Given the description of an element on the screen output the (x, y) to click on. 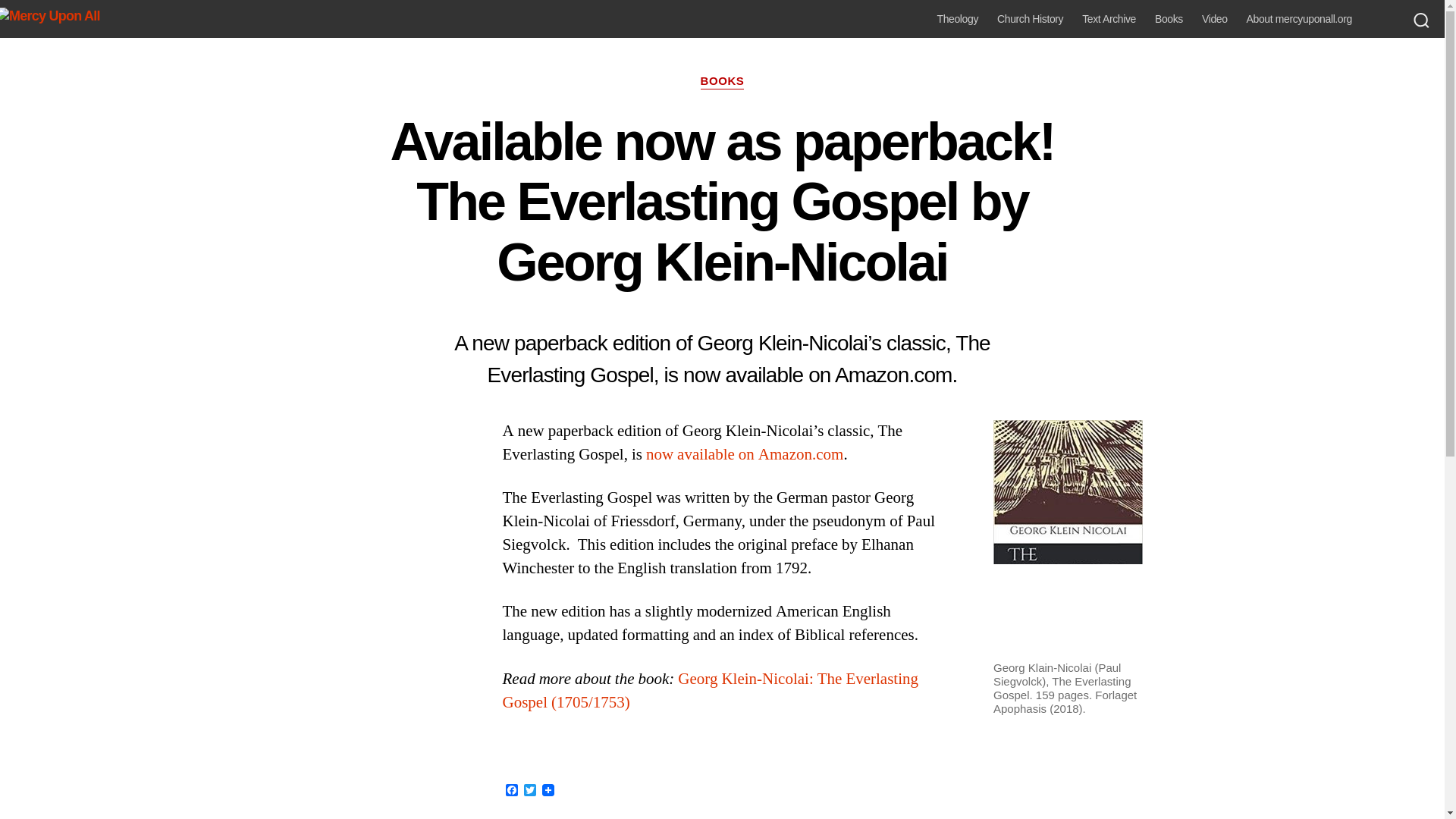
BOOKS (722, 81)
About mercyuponall.org (1299, 19)
Theology (957, 19)
Church History (1029, 19)
Books (1168, 19)
now available on Amazon.com (745, 454)
Facebook (510, 790)
Text Archive (1108, 19)
Facebook (510, 790)
Video (1214, 19)
